Given the description of an element on the screen output the (x, y) to click on. 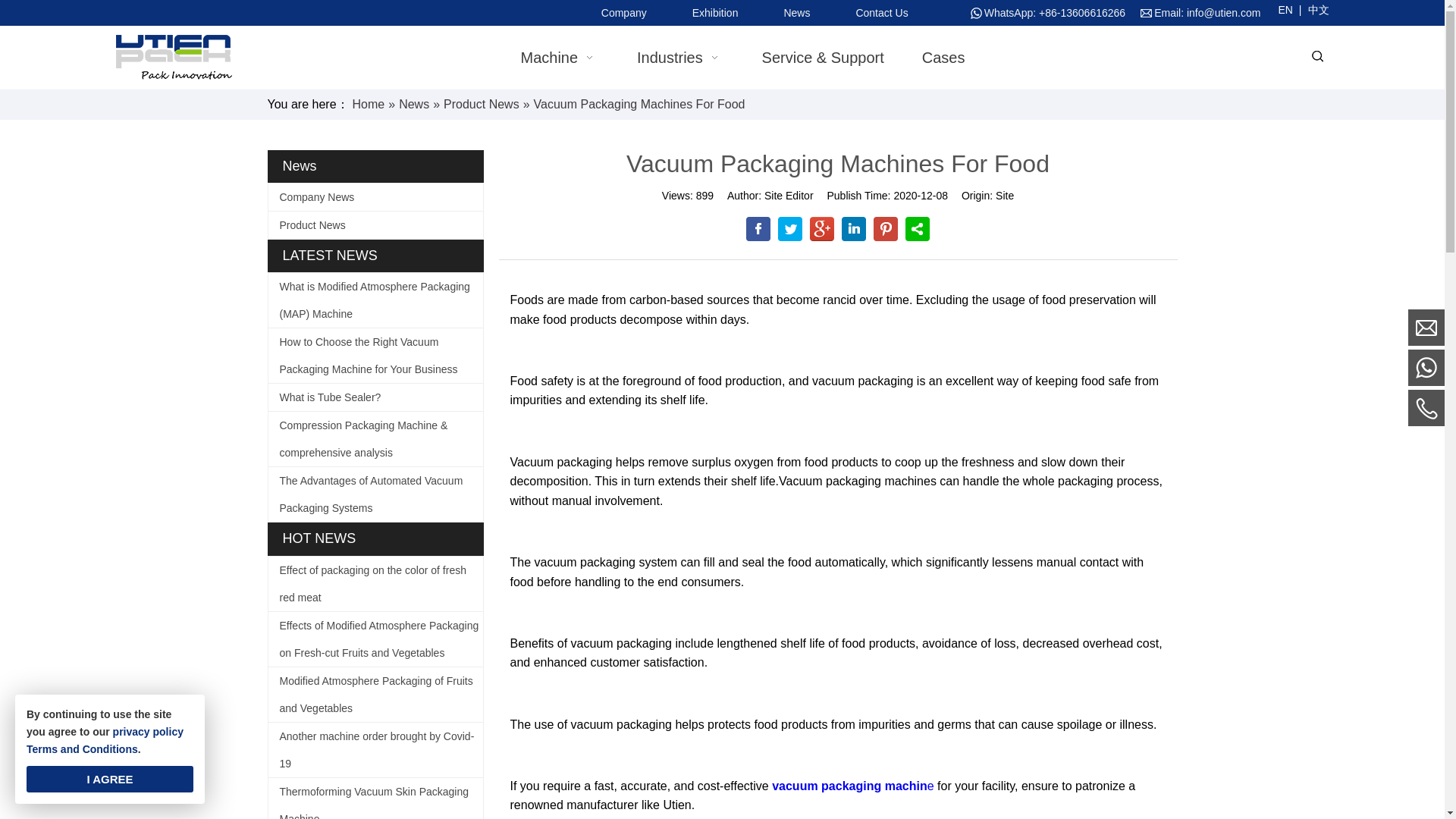
Contact Us (881, 12)
Company (623, 12)
Industries (680, 57)
EN (1285, 7)
News (796, 12)
vacuum packaging machine (852, 786)
Cases (943, 57)
Exhibition (714, 12)
Machine (558, 57)
